Given the description of an element on the screen output the (x, y) to click on. 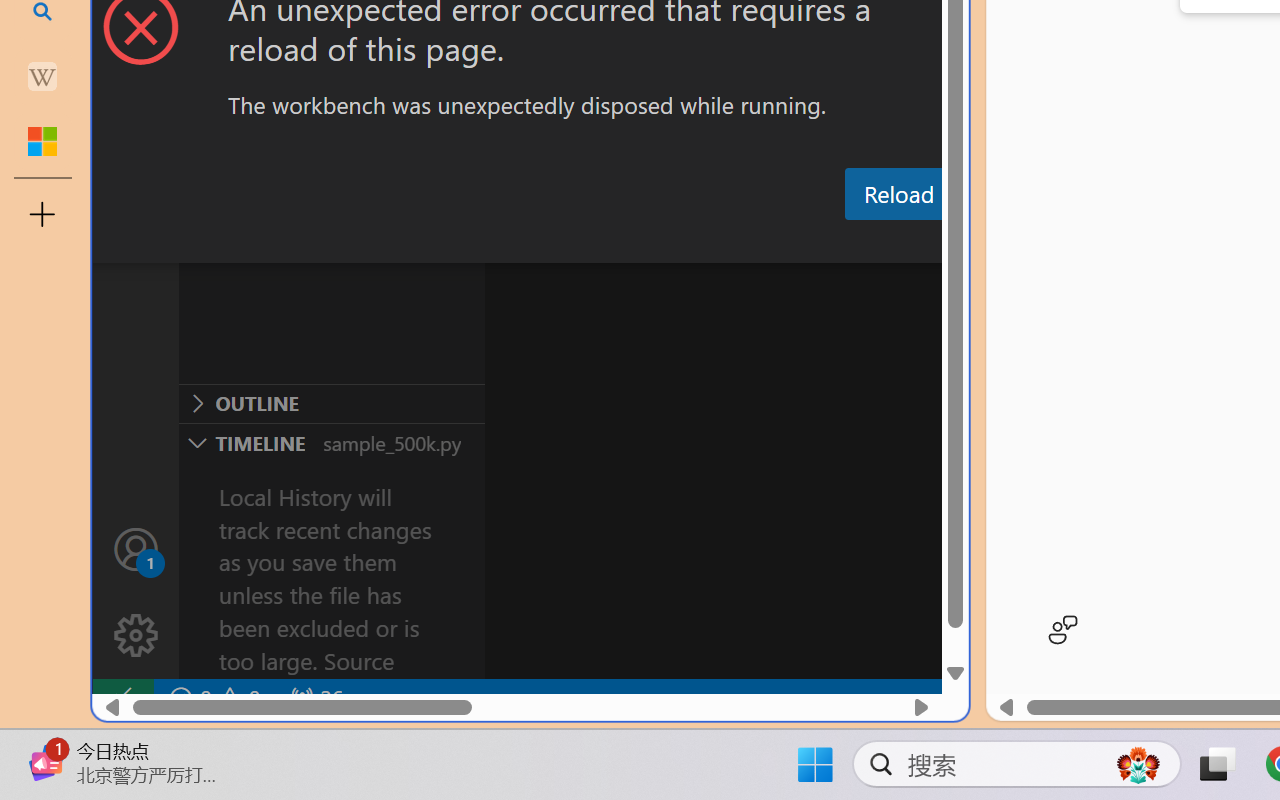
Outline Section (331, 403)
Output (Ctrl+Shift+U) (696, 243)
No Problems (212, 698)
Reload (898, 193)
remote (122, 698)
Problems (Ctrl+Shift+M) (567, 243)
Timeline Section (331, 442)
